Given the description of an element on the screen output the (x, y) to click on. 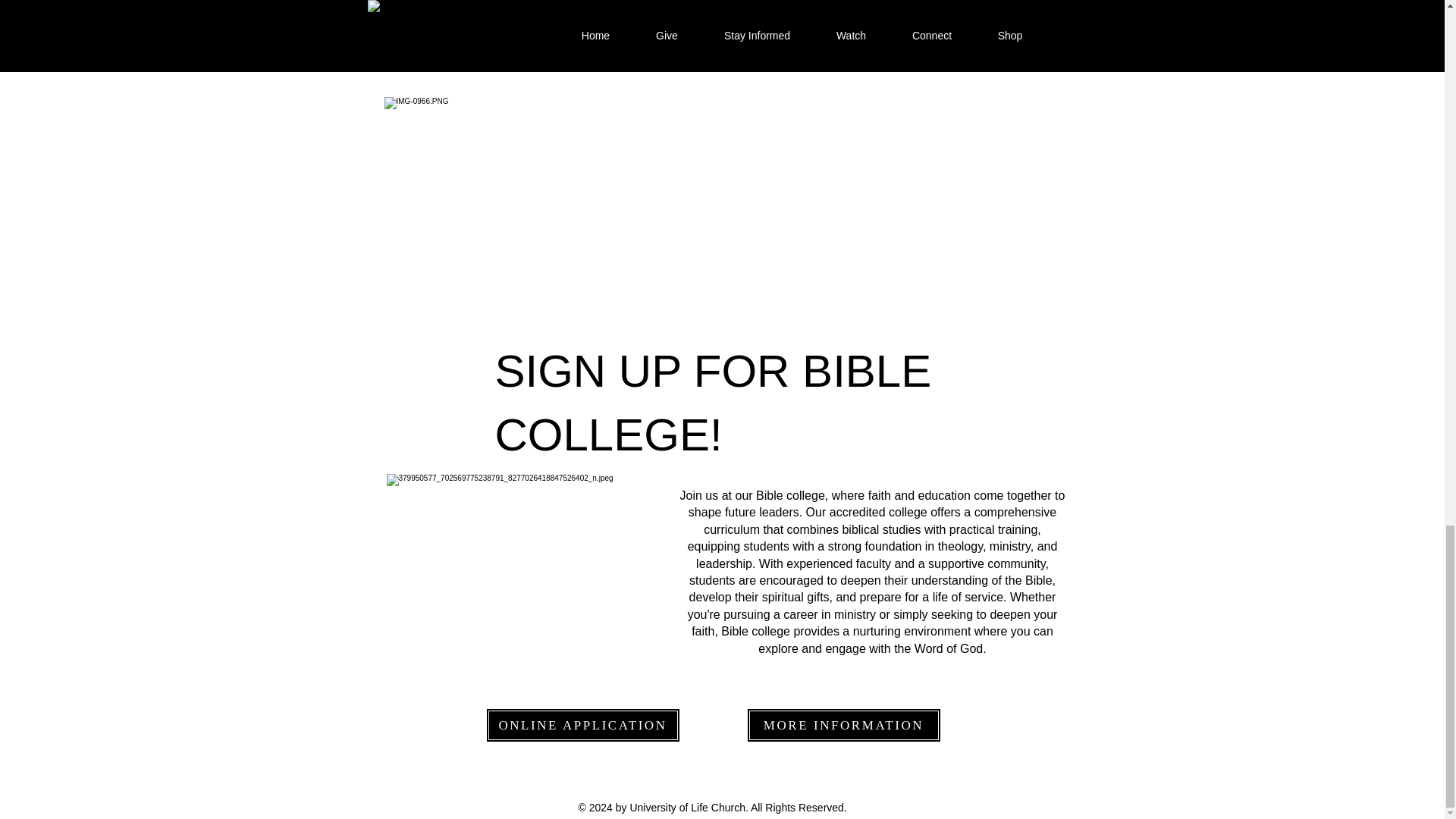
MORE INFORMATION (842, 725)
ONLINE APPLICATION (581, 725)
